Given the description of an element on the screen output the (x, y) to click on. 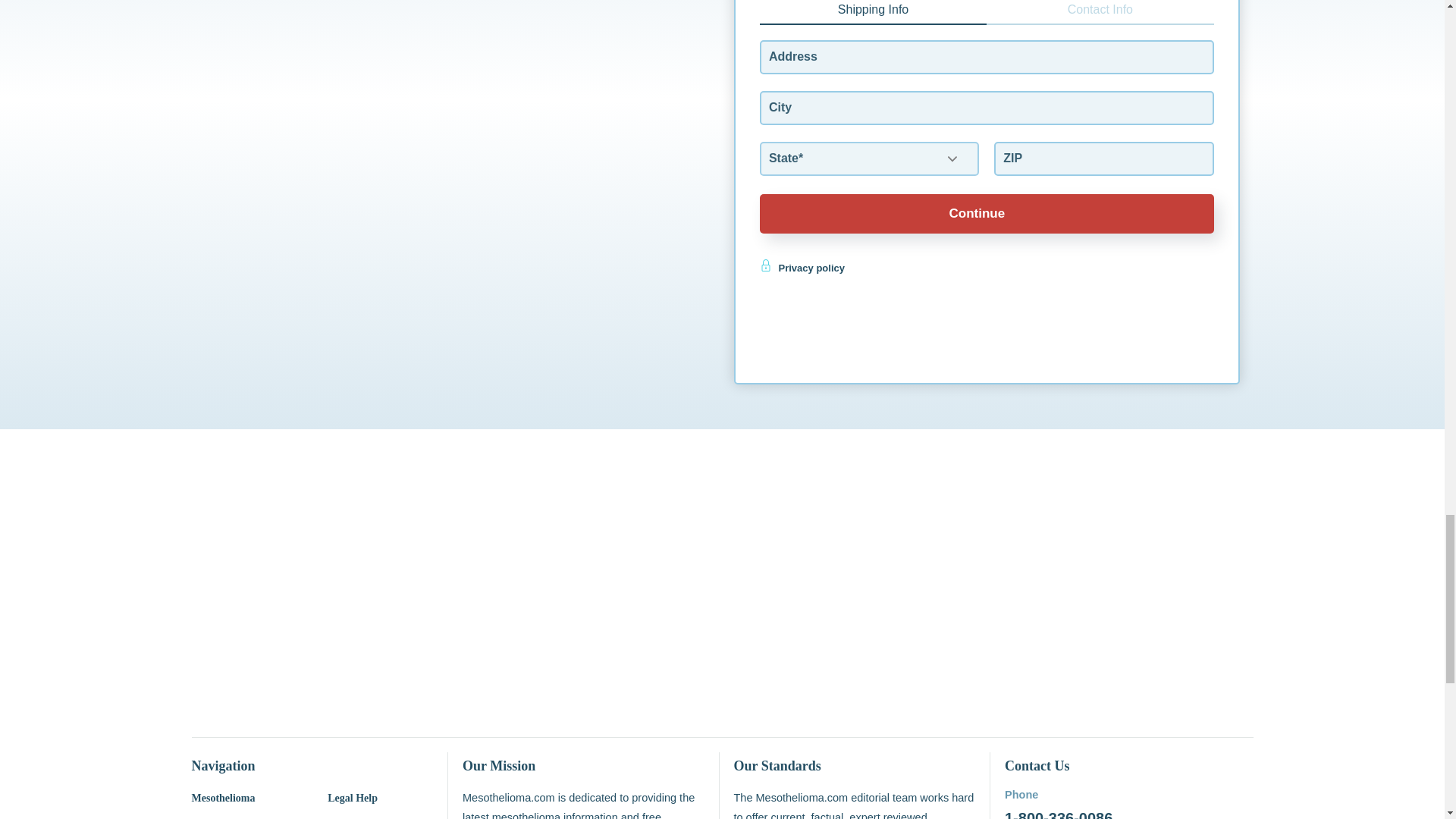
Enter your zip code. (1103, 158)
St. is required. (869, 158)
Enter a valid city. (987, 107)
Enter your street address. (987, 57)
